Given the description of an element on the screen output the (x, y) to click on. 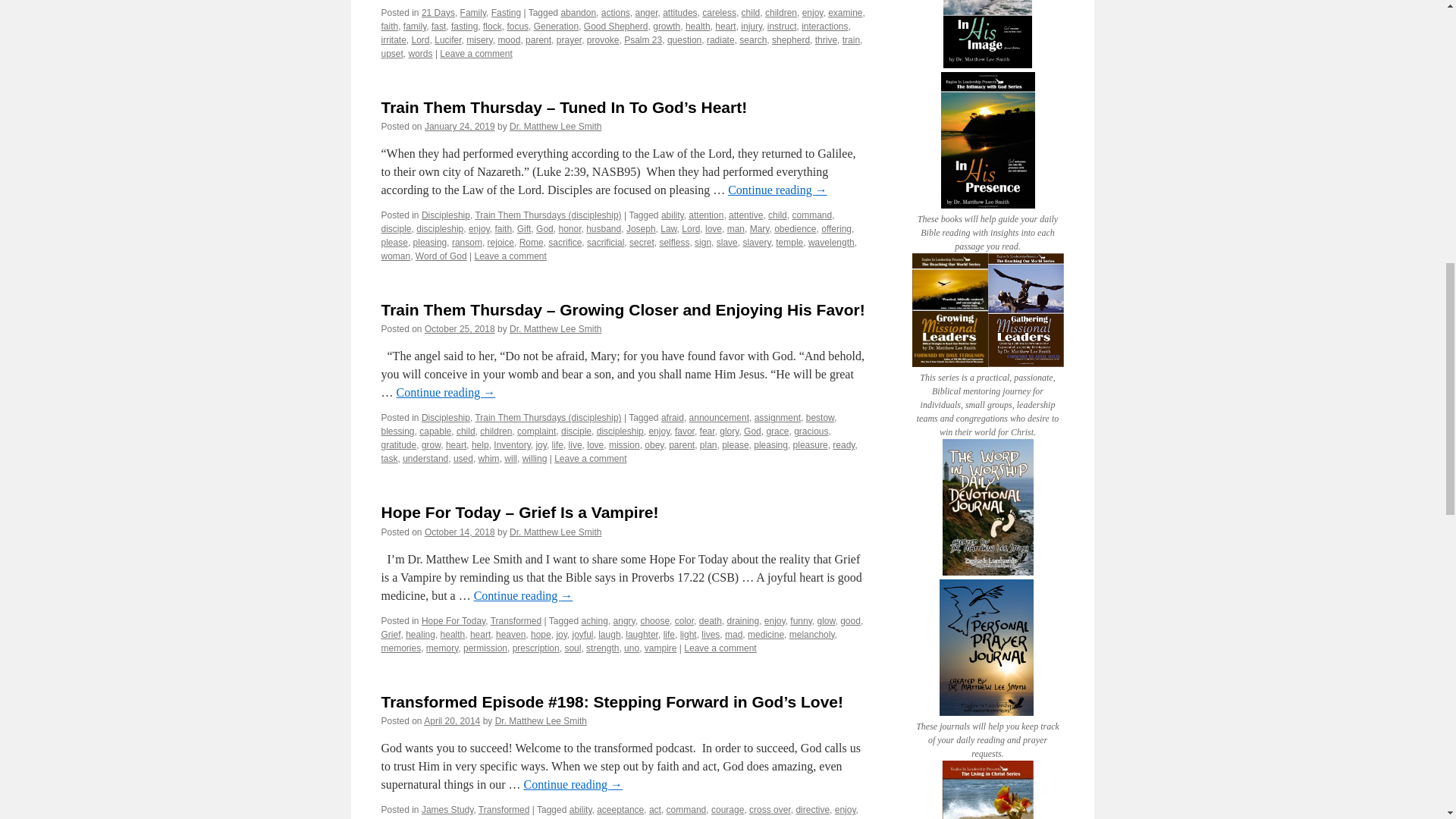
3:00 am (460, 126)
View all posts by Dr. Matthew Lee Smith (555, 126)
View all posts by Dr. Matthew Lee Smith (540, 720)
6:00 am (451, 720)
View all posts by Dr. Matthew Lee Smith (555, 328)
3:00 am (460, 328)
View all posts by Dr. Matthew Lee Smith (555, 532)
3:00 am (460, 532)
